Given the description of an element on the screen output the (x, y) to click on. 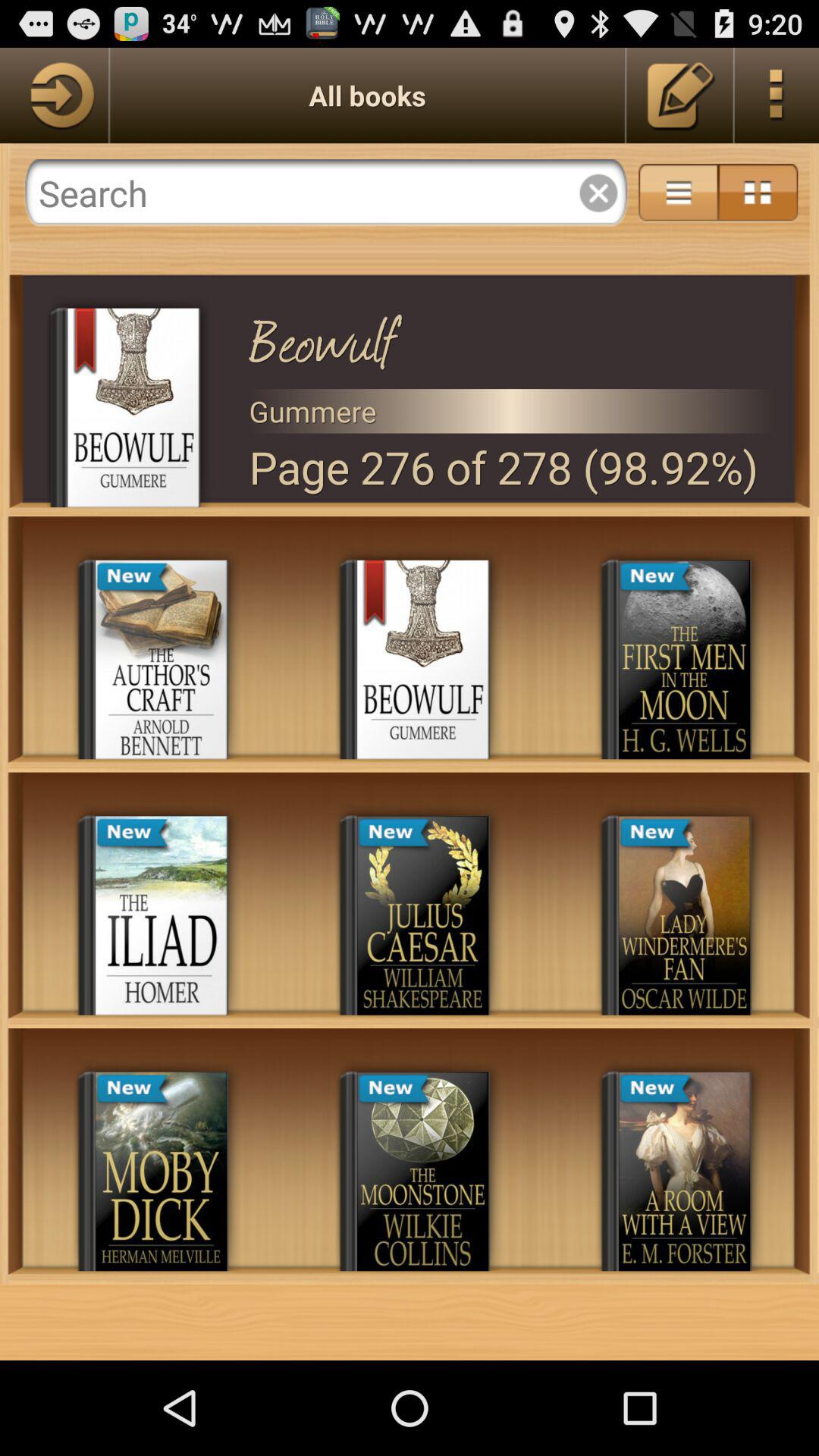
view in list mode (678, 192)
